Given the description of an element on the screen output the (x, y) to click on. 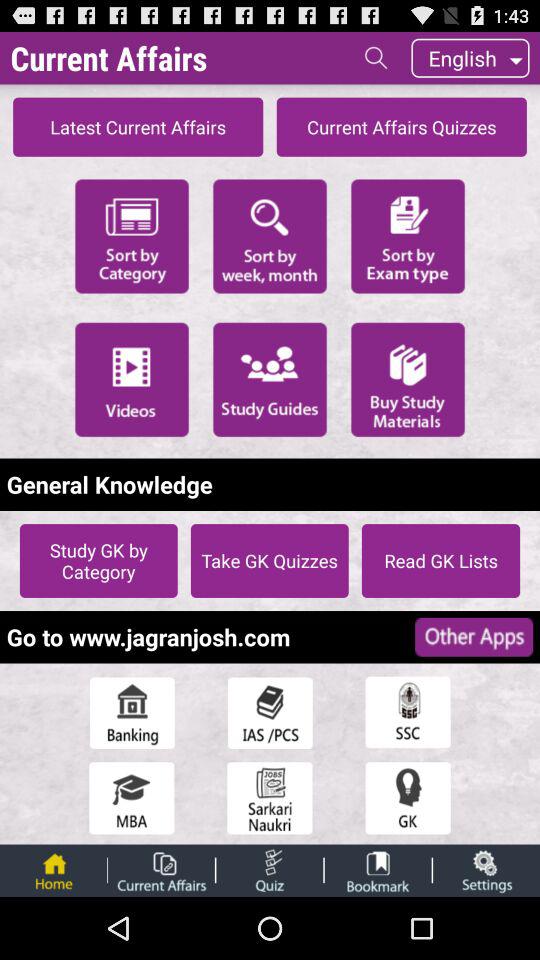
open the read gk lists icon (440, 560)
